Given the description of an element on the screen output the (x, y) to click on. 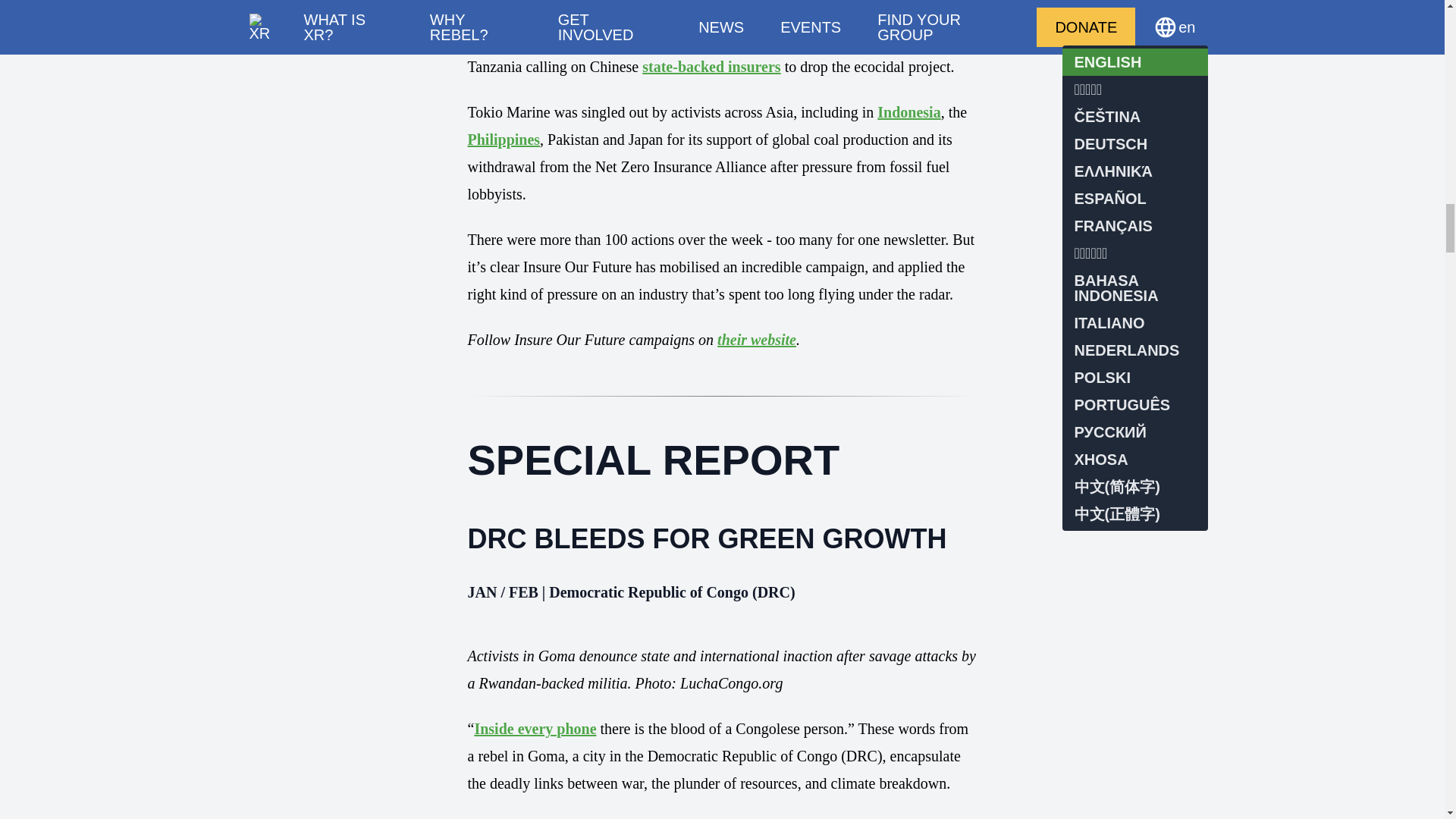
their website (756, 339)
state-backed insurers (711, 66)
Philippines (503, 139)
Indonesia (908, 112)
dance performance (685, 39)
